Given the description of an element on the screen output the (x, y) to click on. 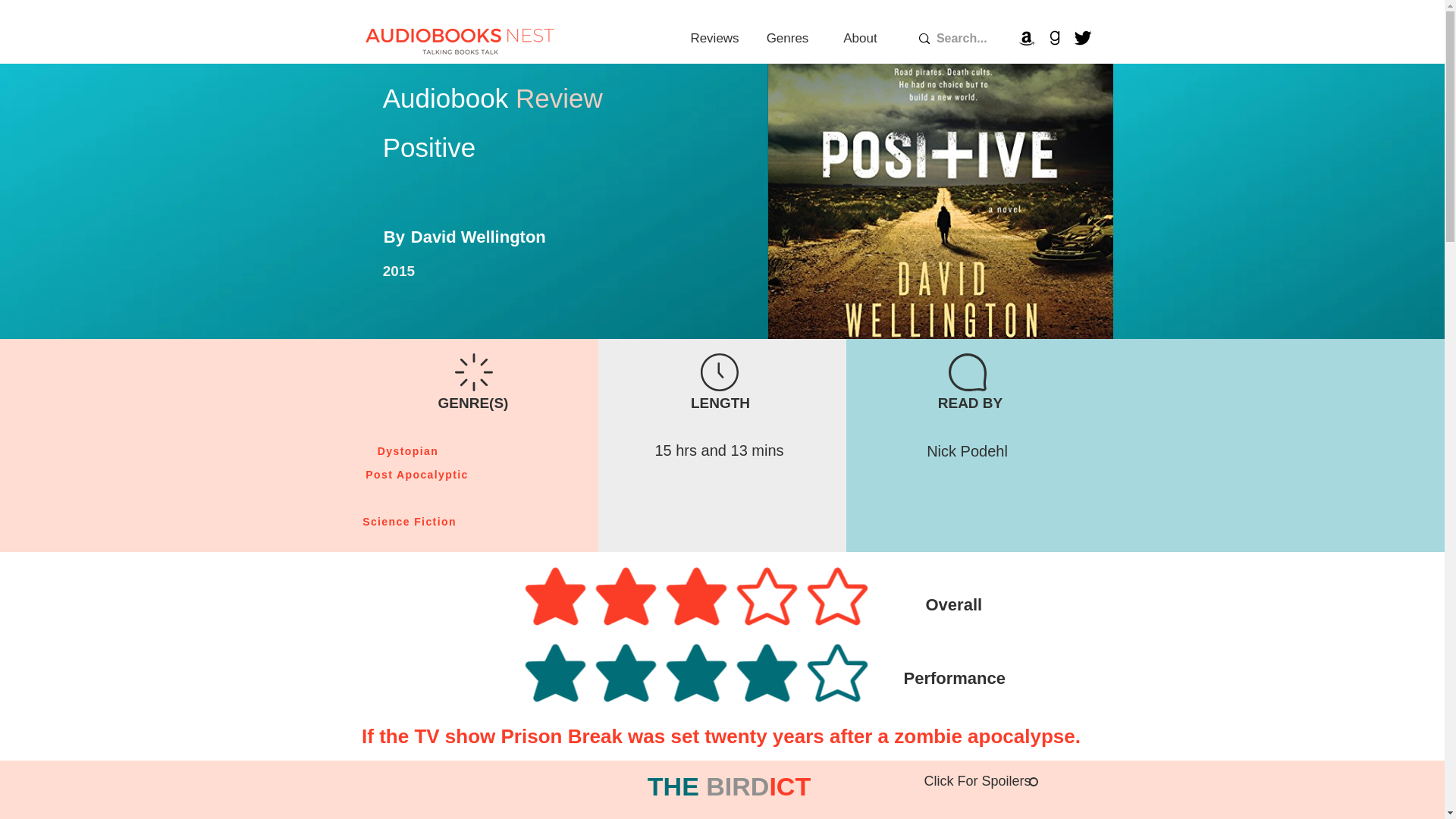
Reviews (714, 38)
About (860, 38)
2015 (398, 270)
Genres (787, 38)
Click For Spoilers (979, 781)
Post Apocalyptic (418, 474)
Science Fiction (411, 521)
Dystopian (409, 450)
